Given the description of an element on the screen output the (x, y) to click on. 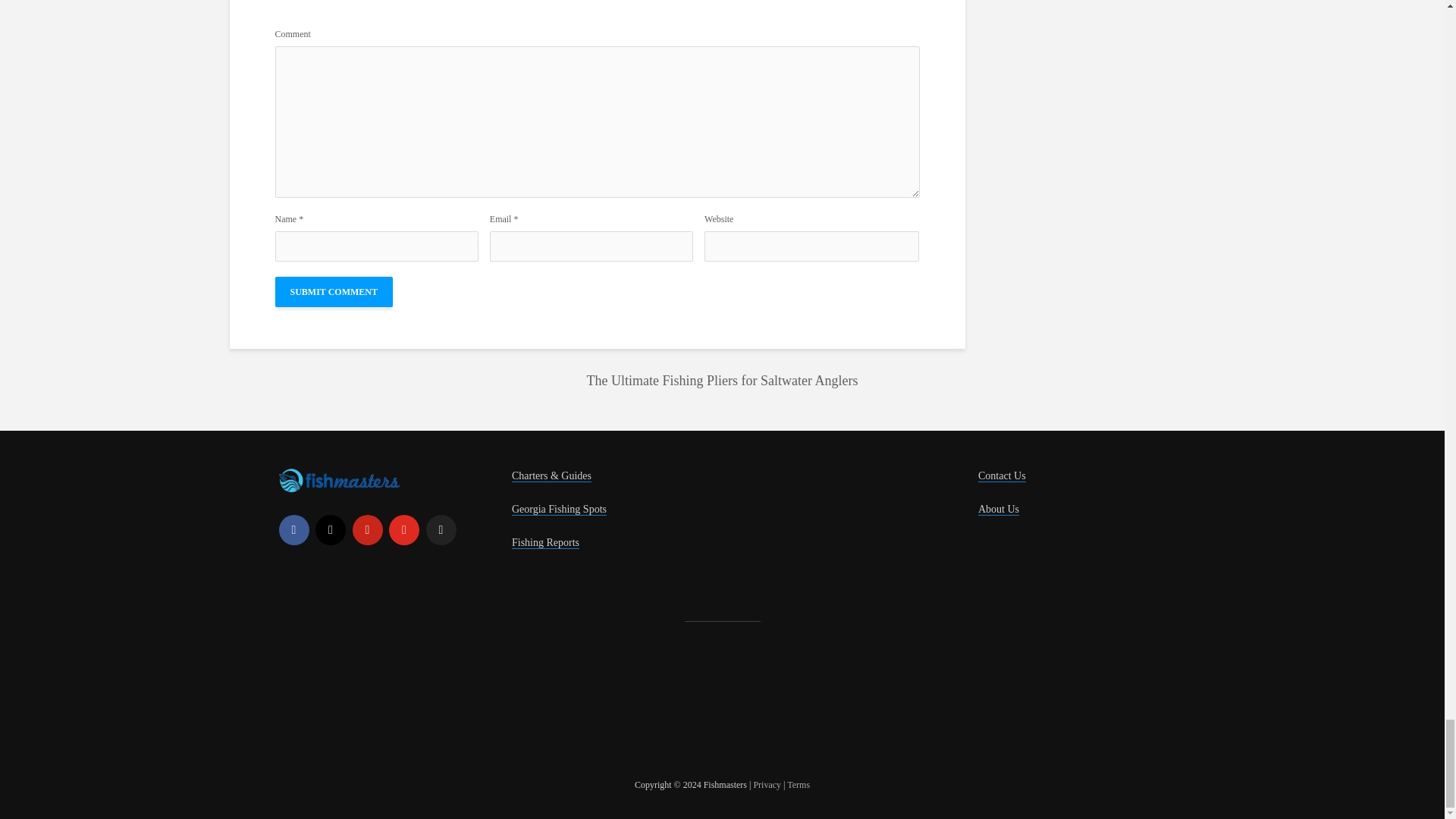
DMCA.com Protection Status (392, 704)
Submit Comment (333, 291)
Instagram (330, 530)
Facebook (293, 530)
YouTube (403, 530)
Pinterest (366, 530)
